Given the description of an element on the screen output the (x, y) to click on. 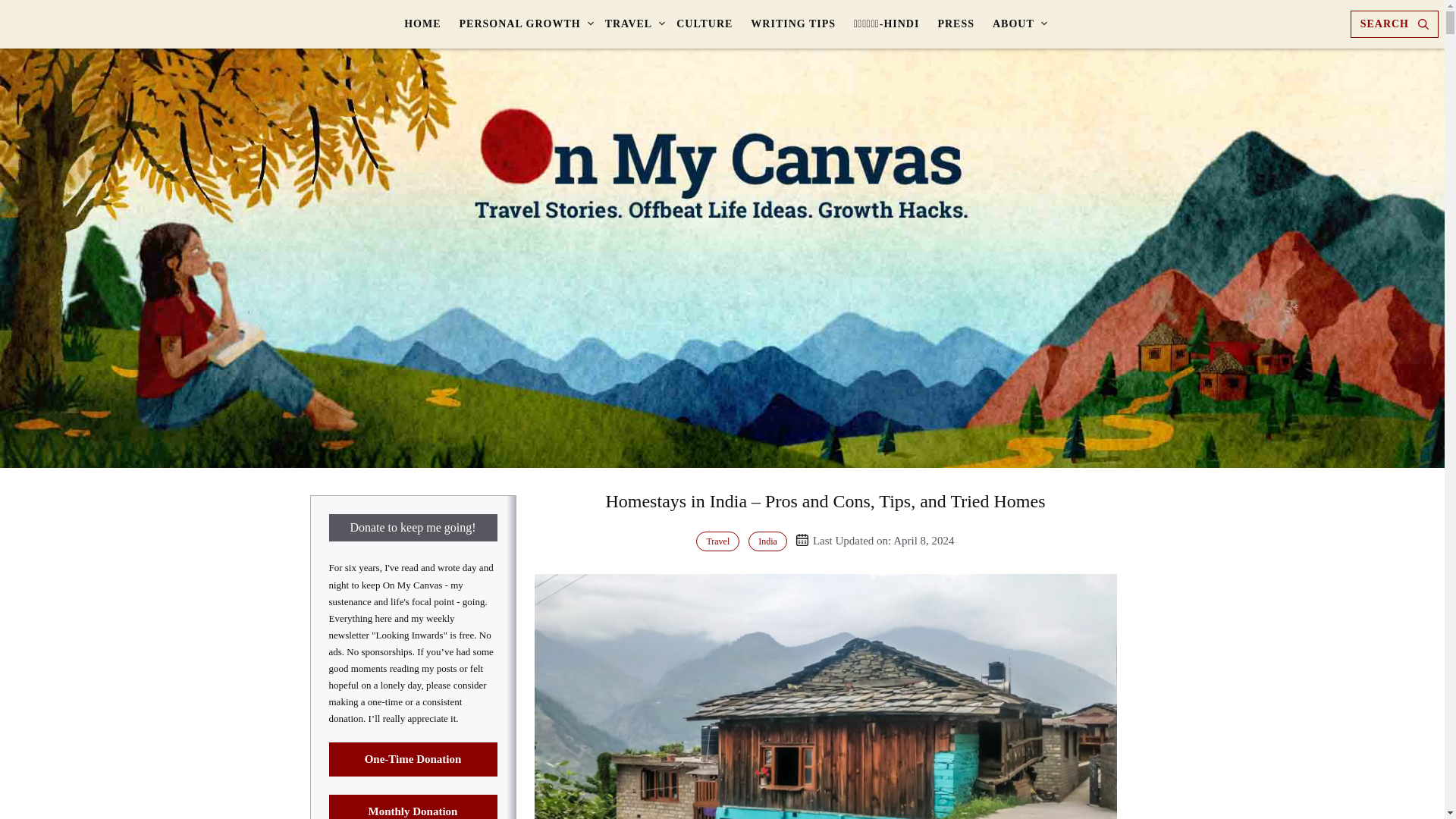
PERSONAL GROWTH (522, 24)
PRESS (956, 24)
Travel (717, 541)
HOME (421, 24)
WRITING TIPS (792, 24)
CULTURE (703, 24)
India (767, 541)
ABOUT (1016, 24)
TRAVEL (631, 24)
